Given the description of an element on the screen output the (x, y) to click on. 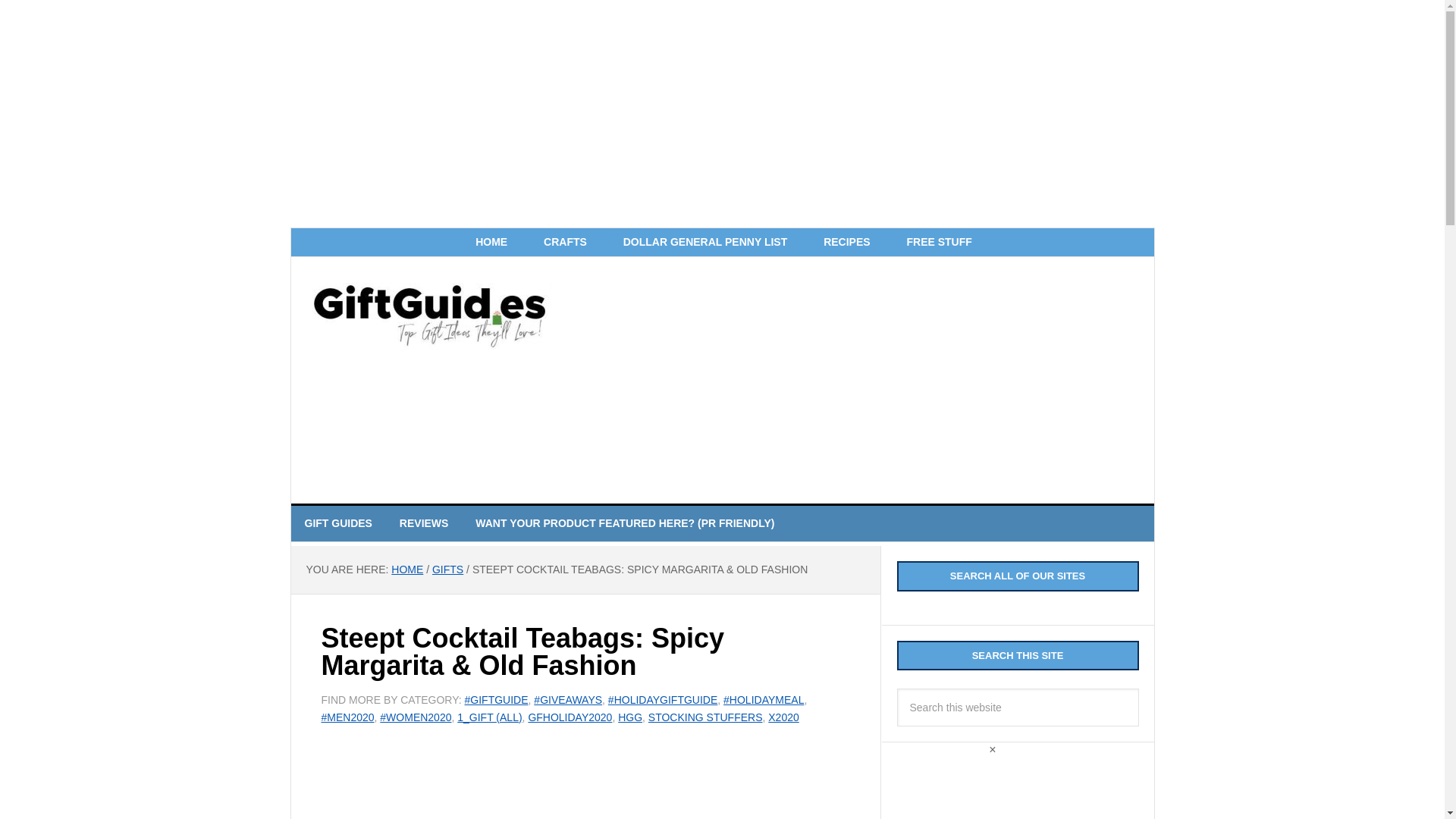
RECIPES (846, 242)
DOLLAR GENERAL PENNY LIST (705, 242)
Advertisement (850, 377)
CRAFTS (565, 242)
HGG (629, 717)
HOME (407, 569)
HOME (491, 242)
REVIEWS (424, 523)
GFHOLIDAY2020 (569, 717)
GIFT GUIDES (338, 523)
Advertisement (585, 785)
STOCKING STUFFERS (704, 717)
GIFTS (447, 569)
